Given the description of an element on the screen output the (x, y) to click on. 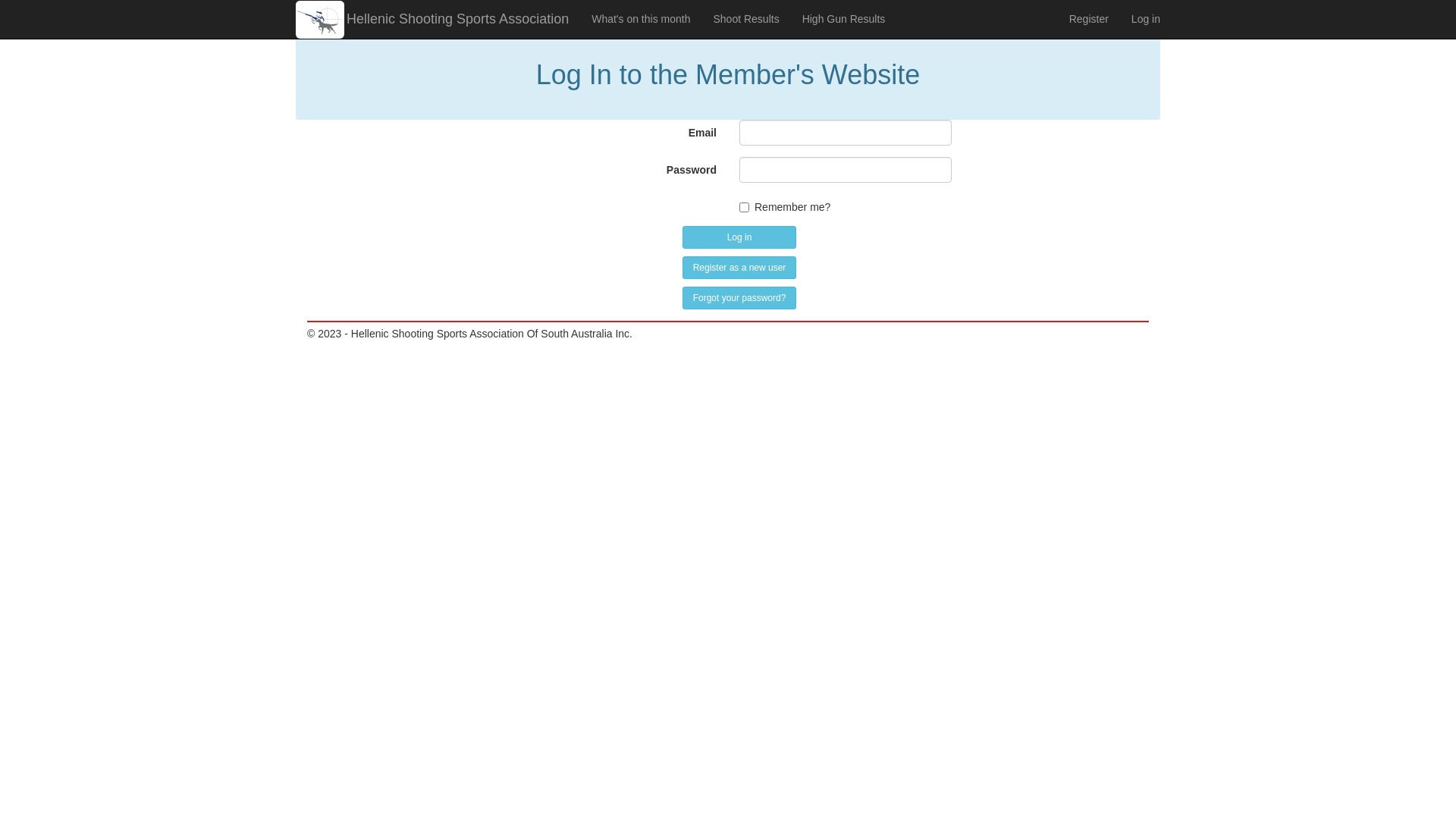
Hellenic Shooting Sports Association Element type: text (456, 18)
Register Element type: text (1088, 18)
Forgot your password? Element type: text (739, 297)
Log in Element type: text (1145, 18)
Shoot Results Element type: text (745, 18)
High Gun Results Element type: text (843, 18)
What's on this month Element type: text (640, 18)
Register as a new user Element type: text (739, 267)
Log in Element type: text (739, 236)
